Given the description of an element on the screen output the (x, y) to click on. 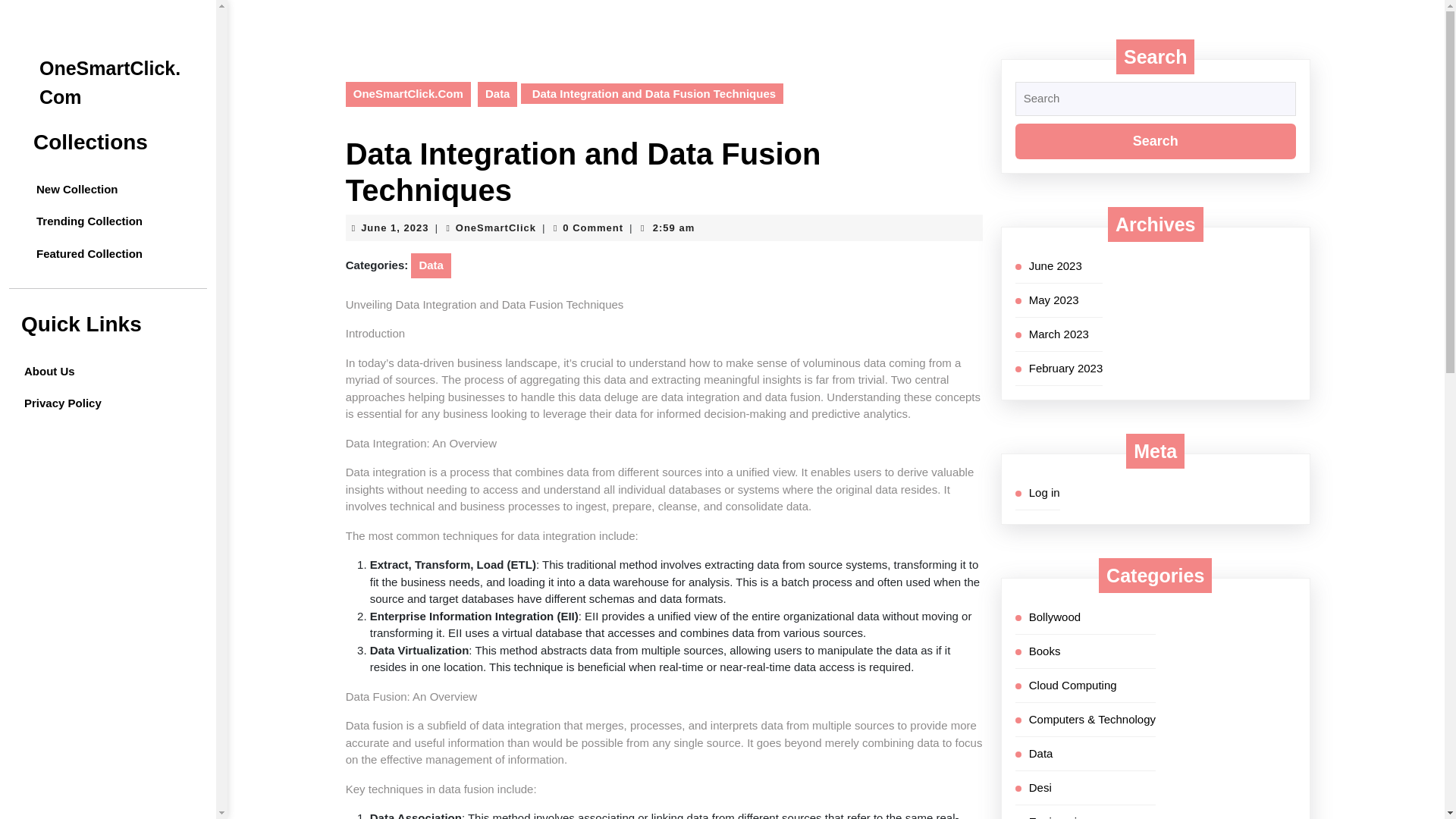
Privacy Policy (62, 403)
Search (1154, 140)
Desi (1040, 787)
Data (1040, 752)
May 2023 (1053, 298)
Engineering (1059, 816)
Data (430, 265)
Books (1045, 650)
OneSmartClick.Com (408, 94)
New Collection (113, 189)
Featured Collection (113, 254)
OneSmartClick.Com (109, 82)
February 2023 (1066, 367)
Log in (394, 226)
